Given the description of an element on the screen output the (x, y) to click on. 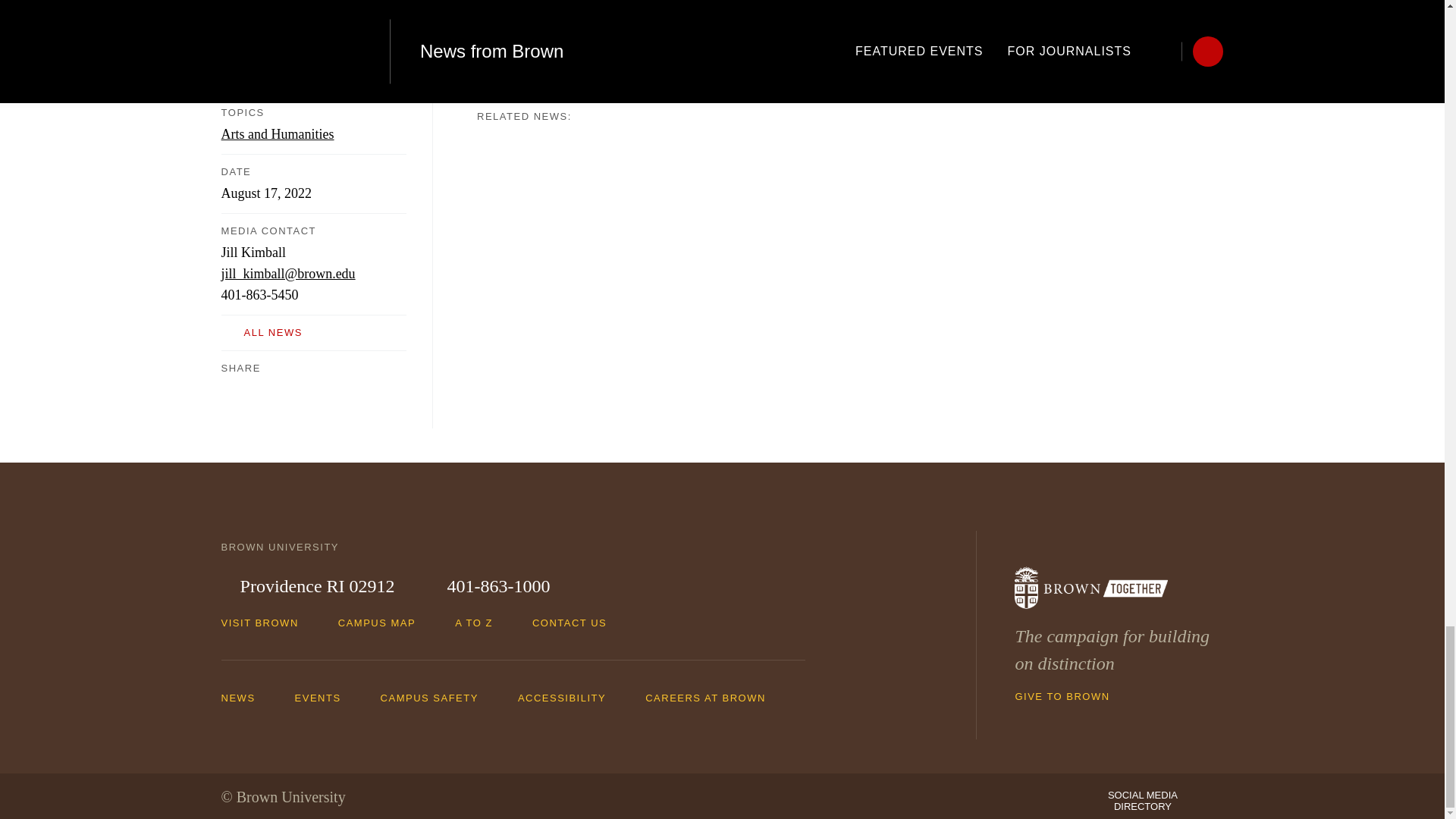
VISIT BROWN (267, 622)
EVENTS (325, 697)
401-863-1000 (489, 586)
CAMPUS SAFETY (436, 697)
A TO Z (481, 622)
NEWS (245, 697)
Providence RI 02912 (307, 586)
Awards and Fellowships (543, 24)
ACCESSIBILITY (569, 697)
CONTACT US (576, 622)
